Given the description of an element on the screen output the (x, y) to click on. 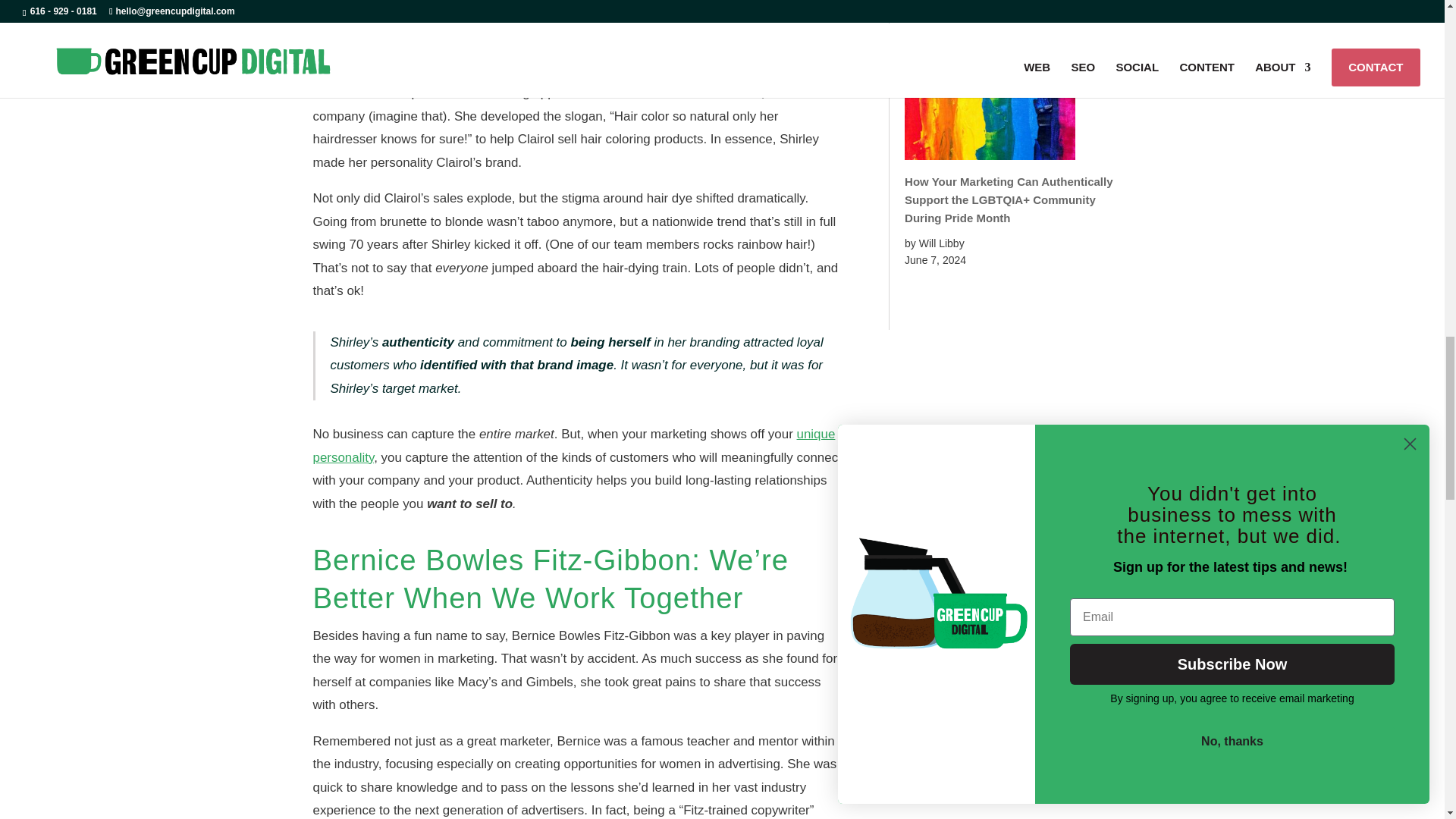
unique personality (573, 445)
